Given the description of an element on the screen output the (x, y) to click on. 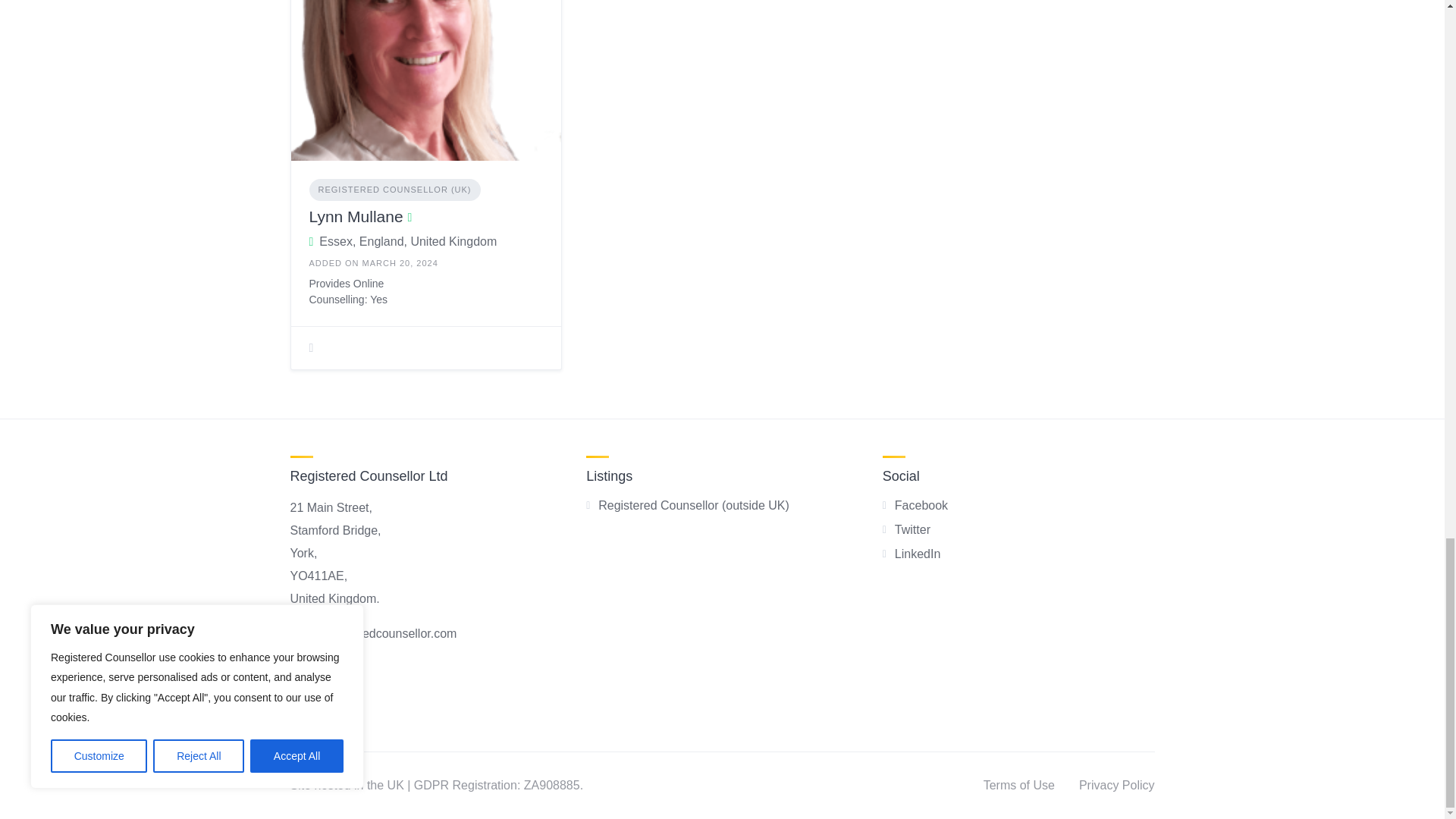
Lynn Mullane (355, 216)
